Given the description of an element on the screen output the (x, y) to click on. 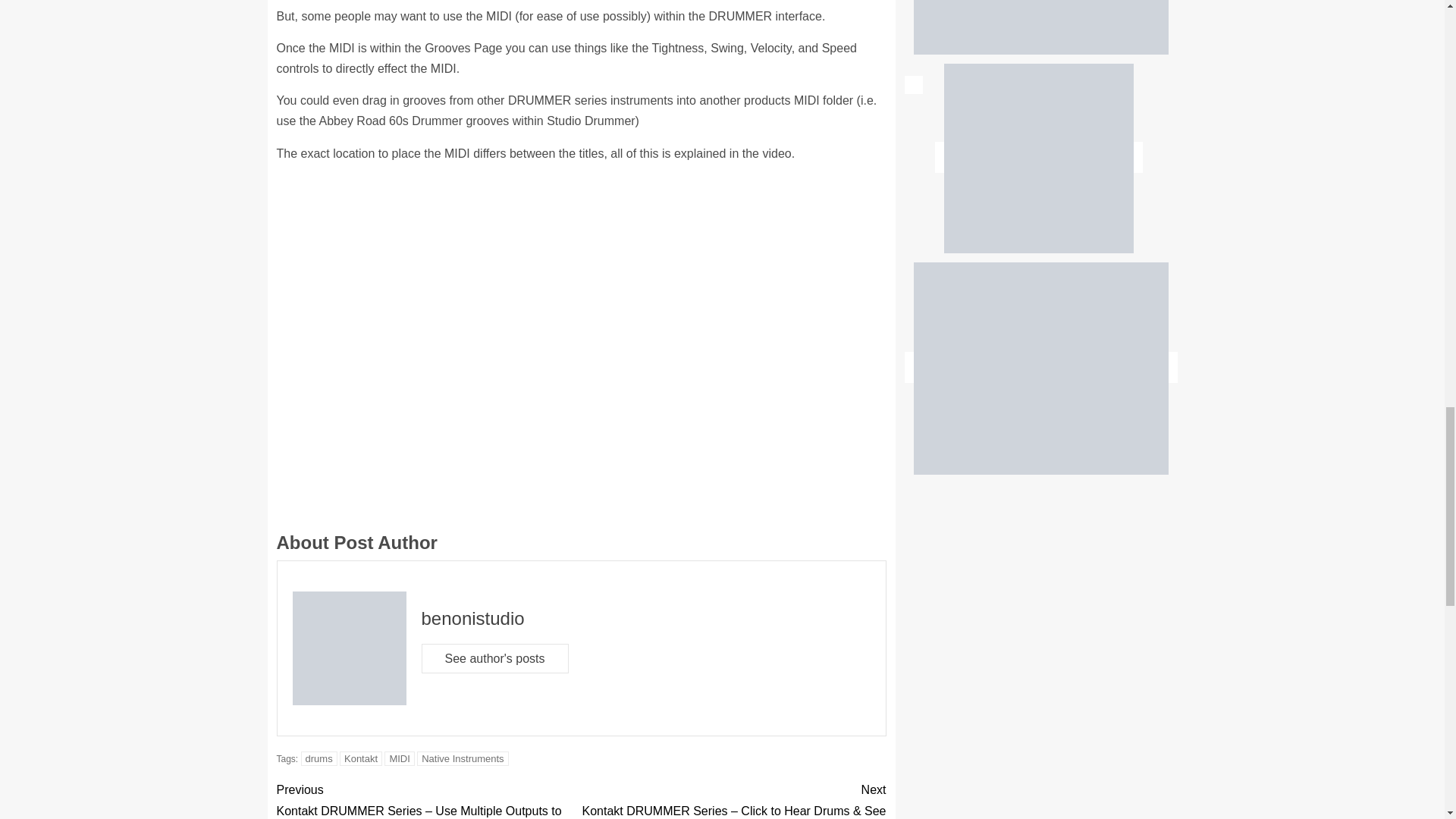
MIDI (398, 758)
Kontakt (360, 758)
benonistudio (473, 618)
Music Software Bundles from Pluginboutique.com (1039, 368)
drums (319, 758)
See author's posts (495, 658)
Native Instruments (462, 758)
